Given the description of an element on the screen output the (x, y) to click on. 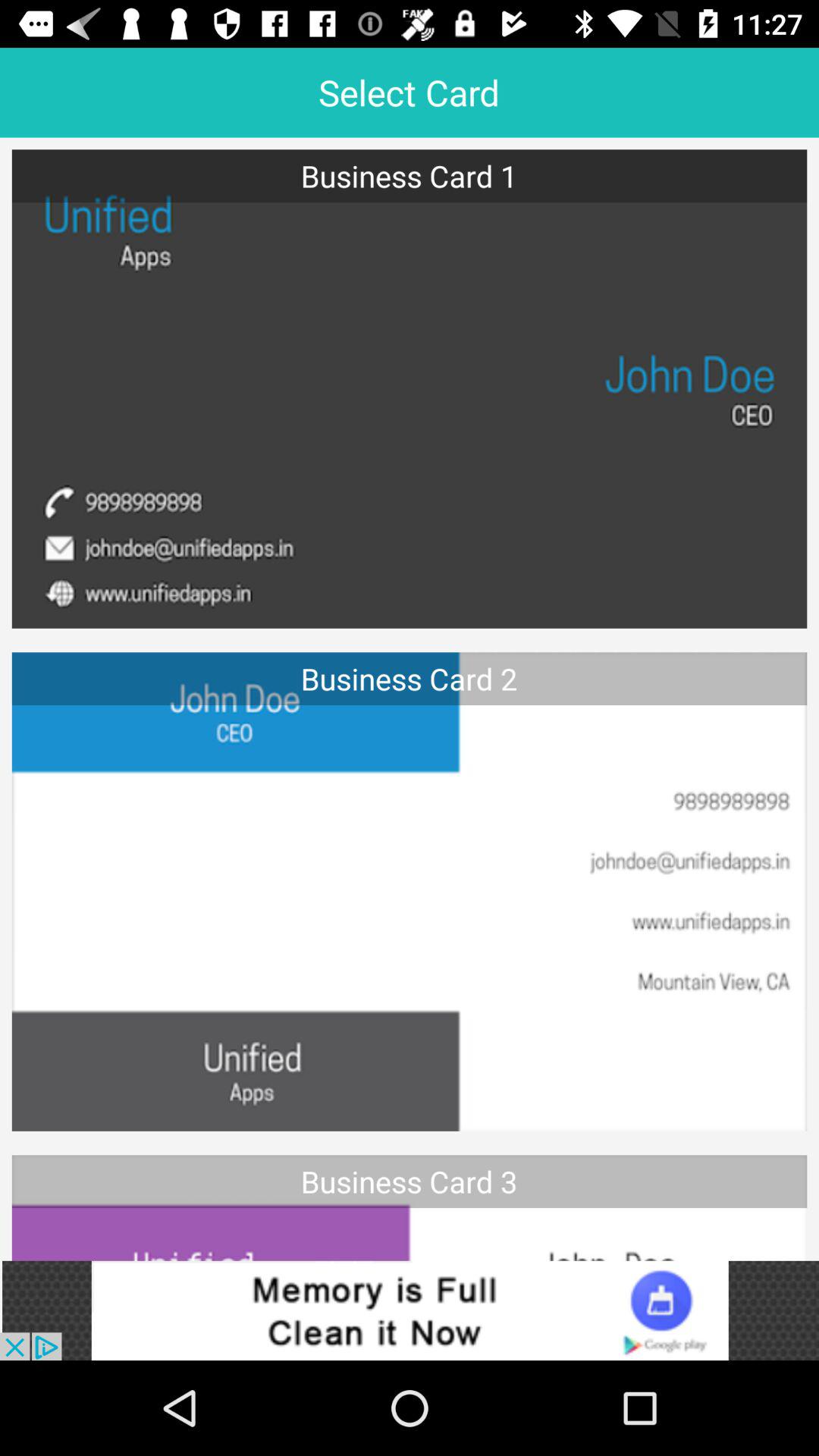
clickable advertisement (409, 1310)
